Given the description of an element on the screen output the (x, y) to click on. 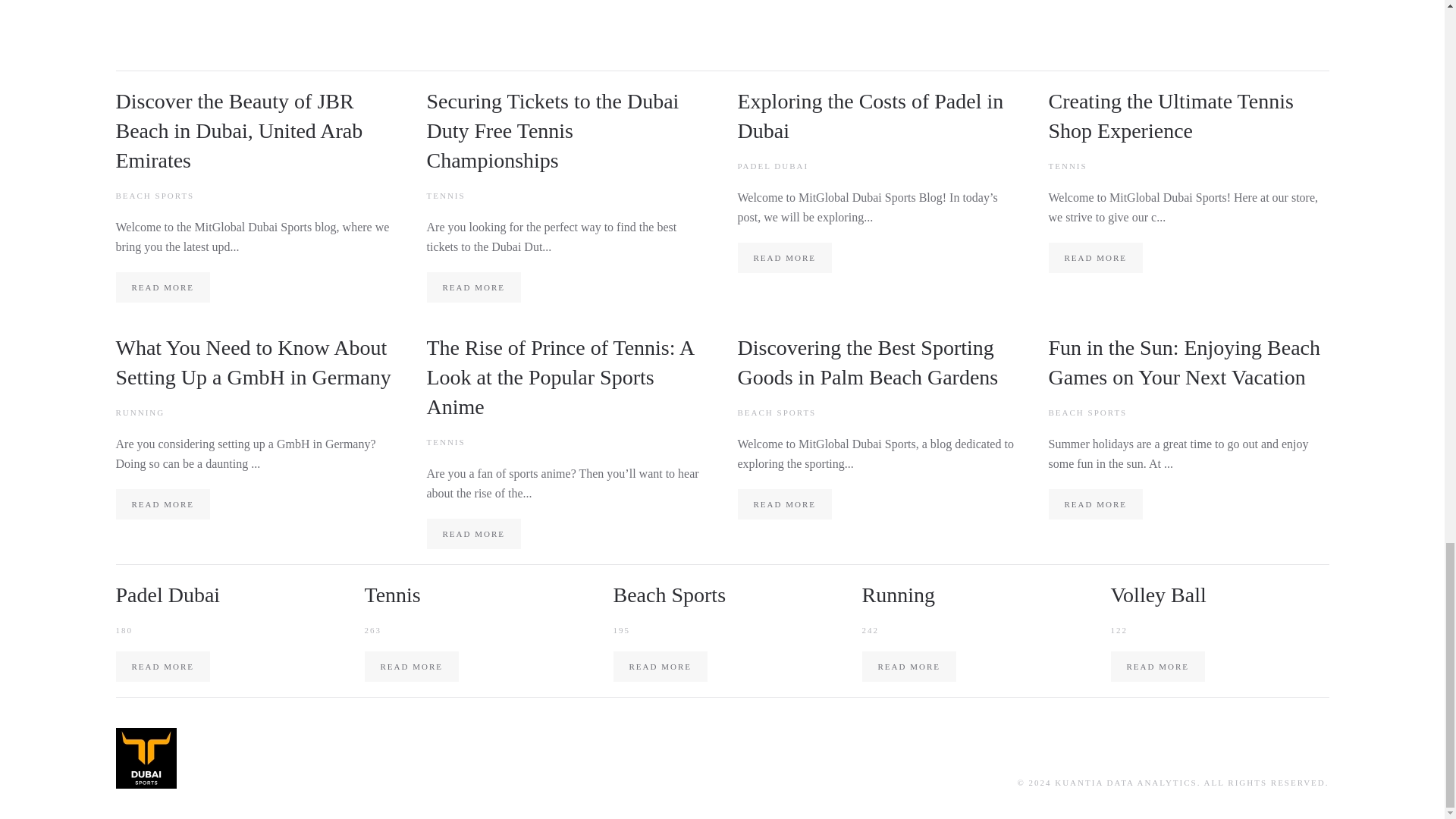
BEACH SPORTS (775, 411)
READ MORE (908, 666)
READ MORE (783, 503)
BEACH SPORTS (1087, 411)
READ MORE (472, 533)
TENNIS (445, 194)
TENNIS (445, 441)
READ MORE (659, 666)
READ MORE (162, 286)
READ MORE (1094, 503)
READ MORE (1094, 257)
RUNNING (139, 411)
READ MORE (162, 503)
TENNIS (1067, 165)
READ MORE (162, 666)
